Given the description of an element on the screen output the (x, y) to click on. 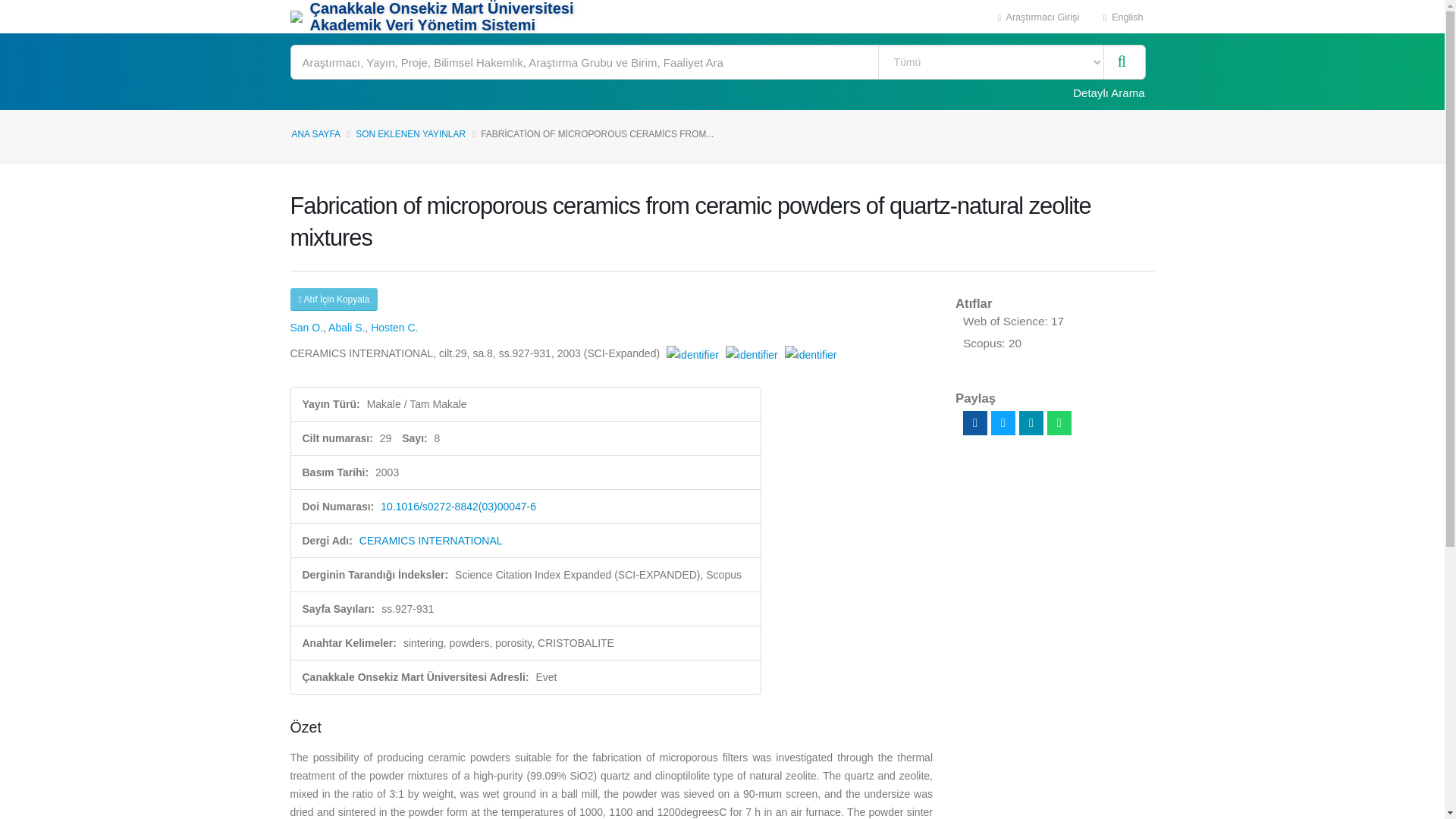
O San (306, 327)
ANA SAYFA (315, 133)
Abali S. (347, 327)
English (1123, 17)
San O. (306, 327)
SON EKLENEN YAYINLAR (410, 133)
C Hosten (394, 327)
Hosten C. (394, 327)
CERAMICS INTERNATIONAL (430, 540)
